Given the description of an element on the screen output the (x, y) to click on. 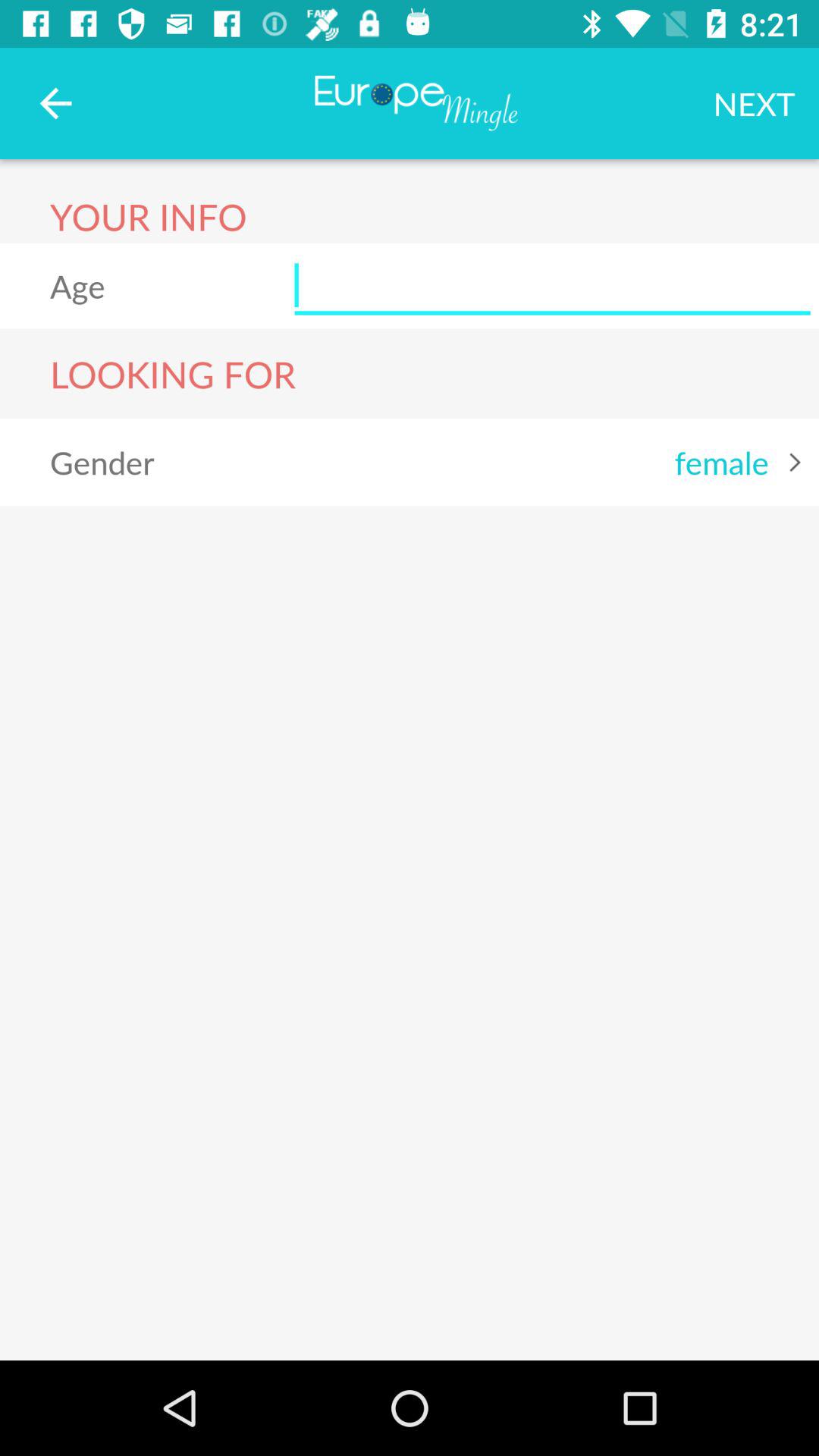
swipe until the next (754, 103)
